Given the description of an element on the screen output the (x, y) to click on. 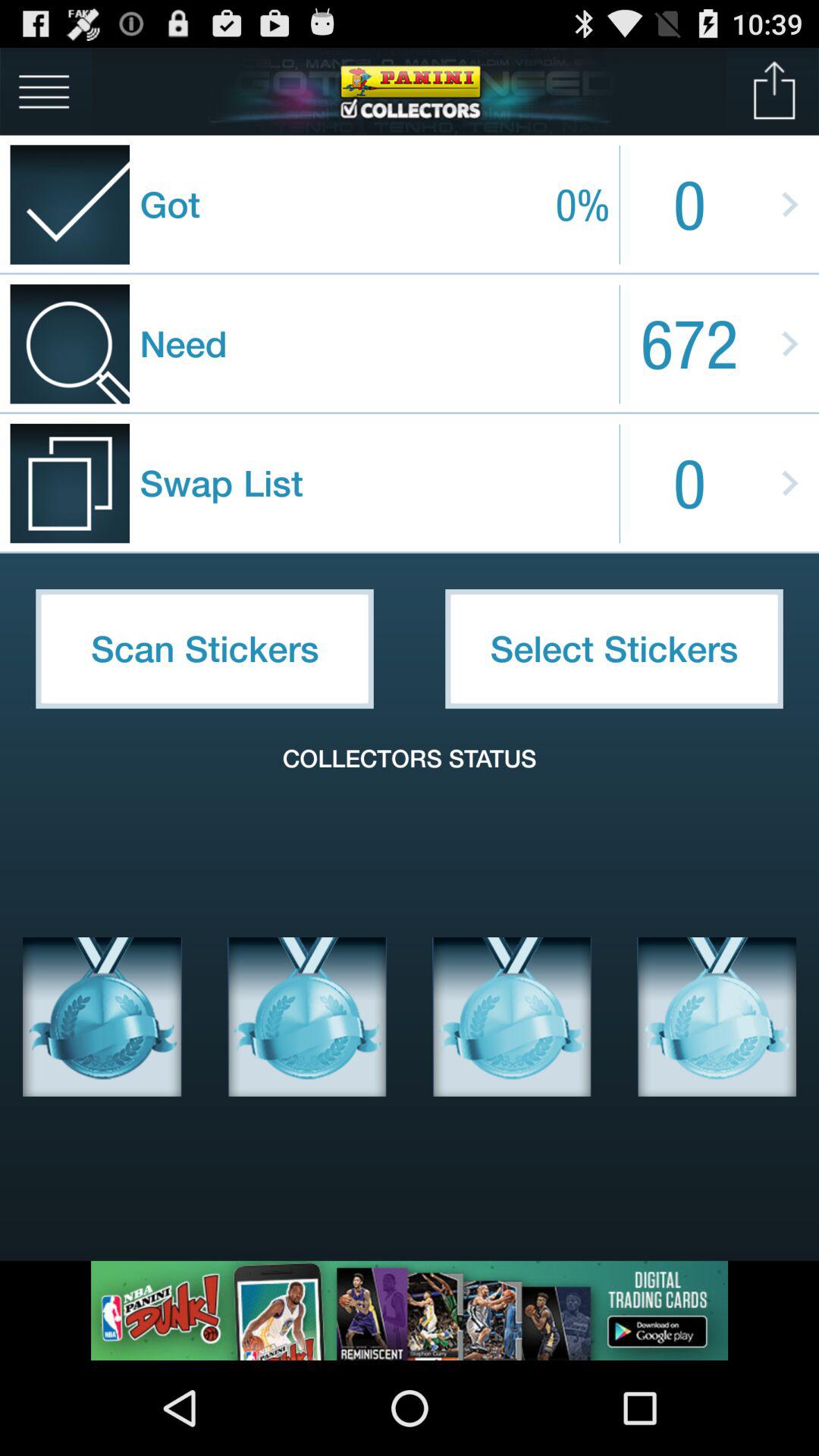
sticker image (102, 1016)
